Given the description of an element on the screen output the (x, y) to click on. 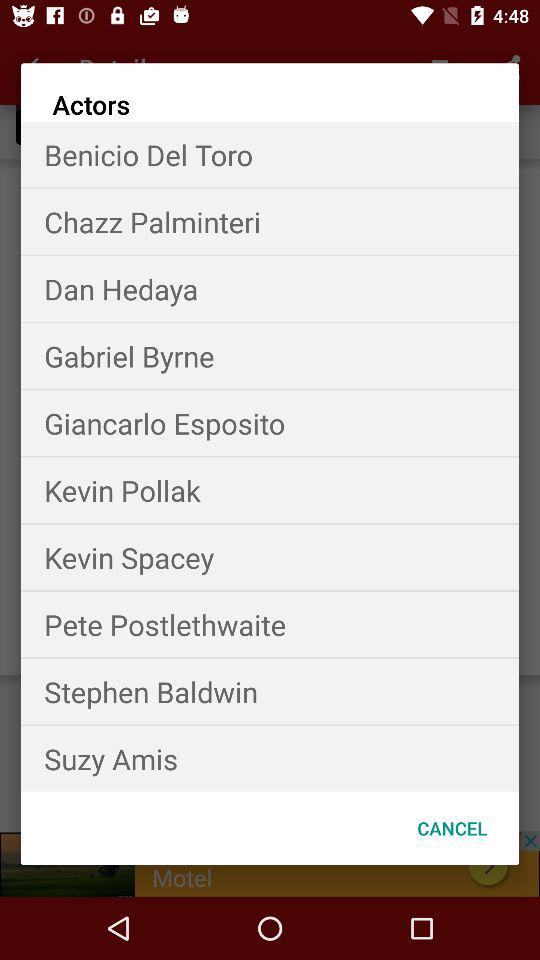
press item above    suzy amis icon (269, 691)
